Given the description of an element on the screen output the (x, y) to click on. 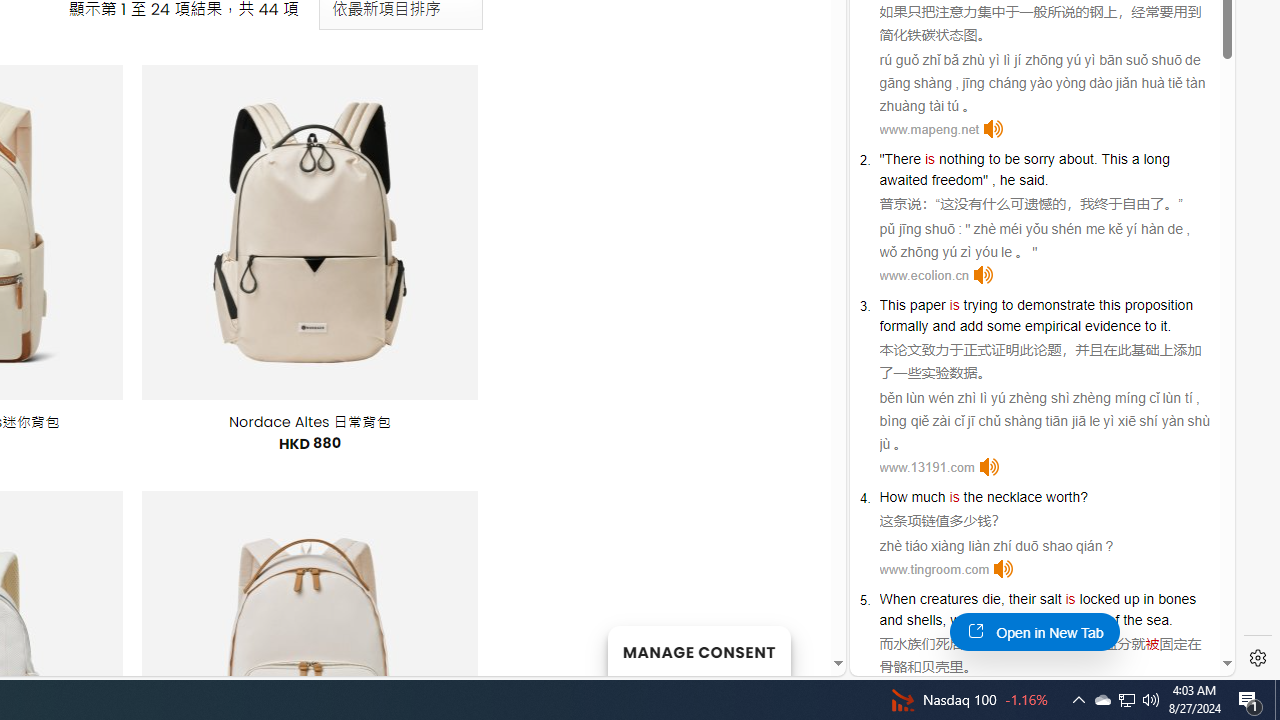
which (967, 619)
freedom (957, 179)
demonstrate (1056, 304)
evidence (1112, 326)
Click to listen (1003, 569)
